Given the description of an element on the screen output the (x, y) to click on. 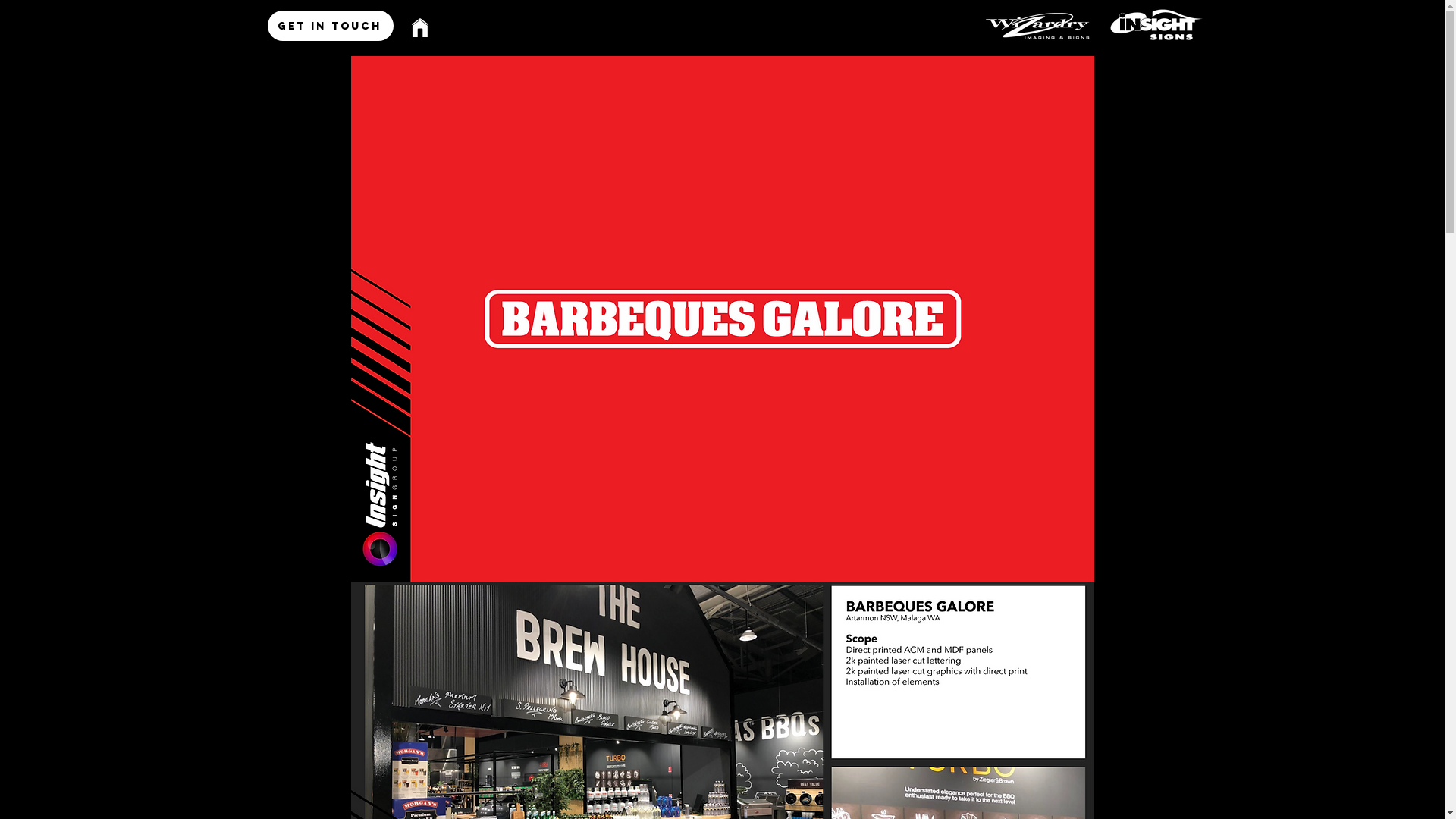
GET IN TOUCH Element type: text (329, 25)
Home Element type: hover (425, 27)
